Given the description of an element on the screen output the (x, y) to click on. 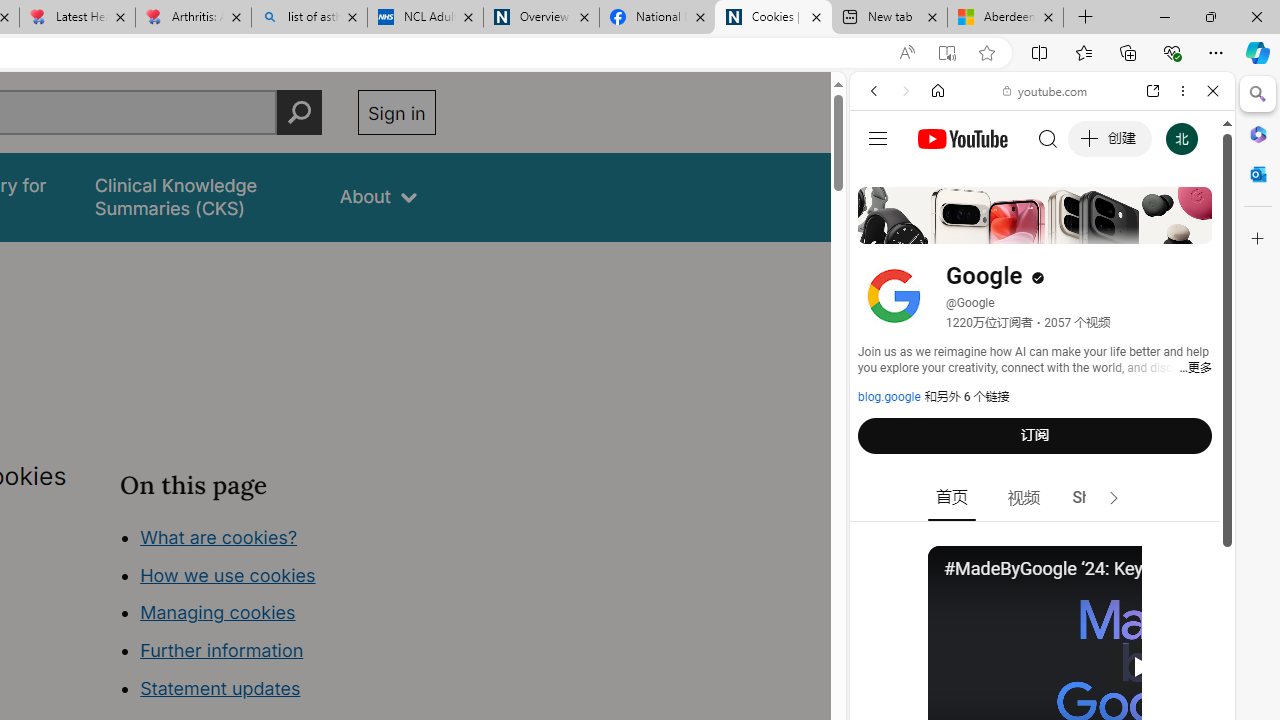
Preferences (1189, 228)
Trailer #2 [HD] (1042, 594)
Close Outlook pane (1258, 174)
About (378, 196)
Shorts (1096, 497)
IMAGES (939, 228)
This site scope (936, 180)
Managing cookies (217, 612)
